Given the description of an element on the screen output the (x, y) to click on. 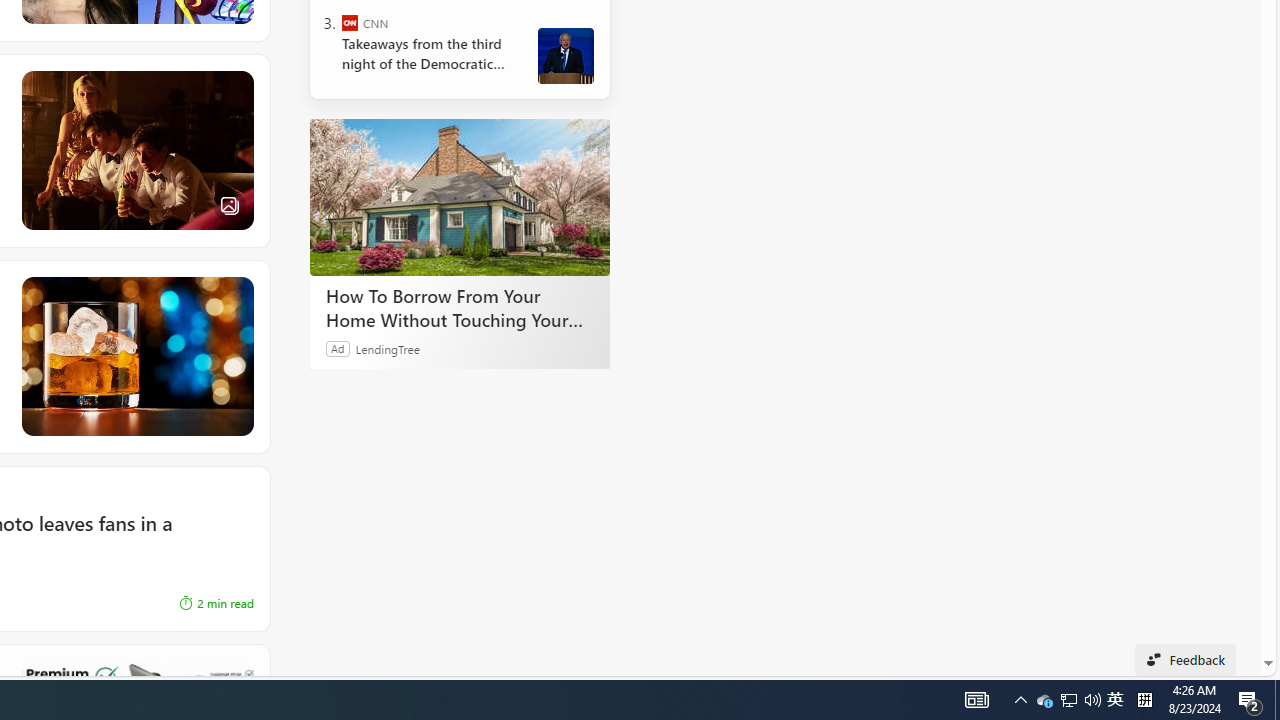
CNN (349, 22)
glass of whiskey (136, 357)
How To Borrow From Your Home Without Touching Your Mortgage (459, 307)
LendingTree (387, 348)
How To Borrow From Your Home Without Touching Your Mortgage (459, 196)
